Given the description of an element on the screen output the (x, y) to click on. 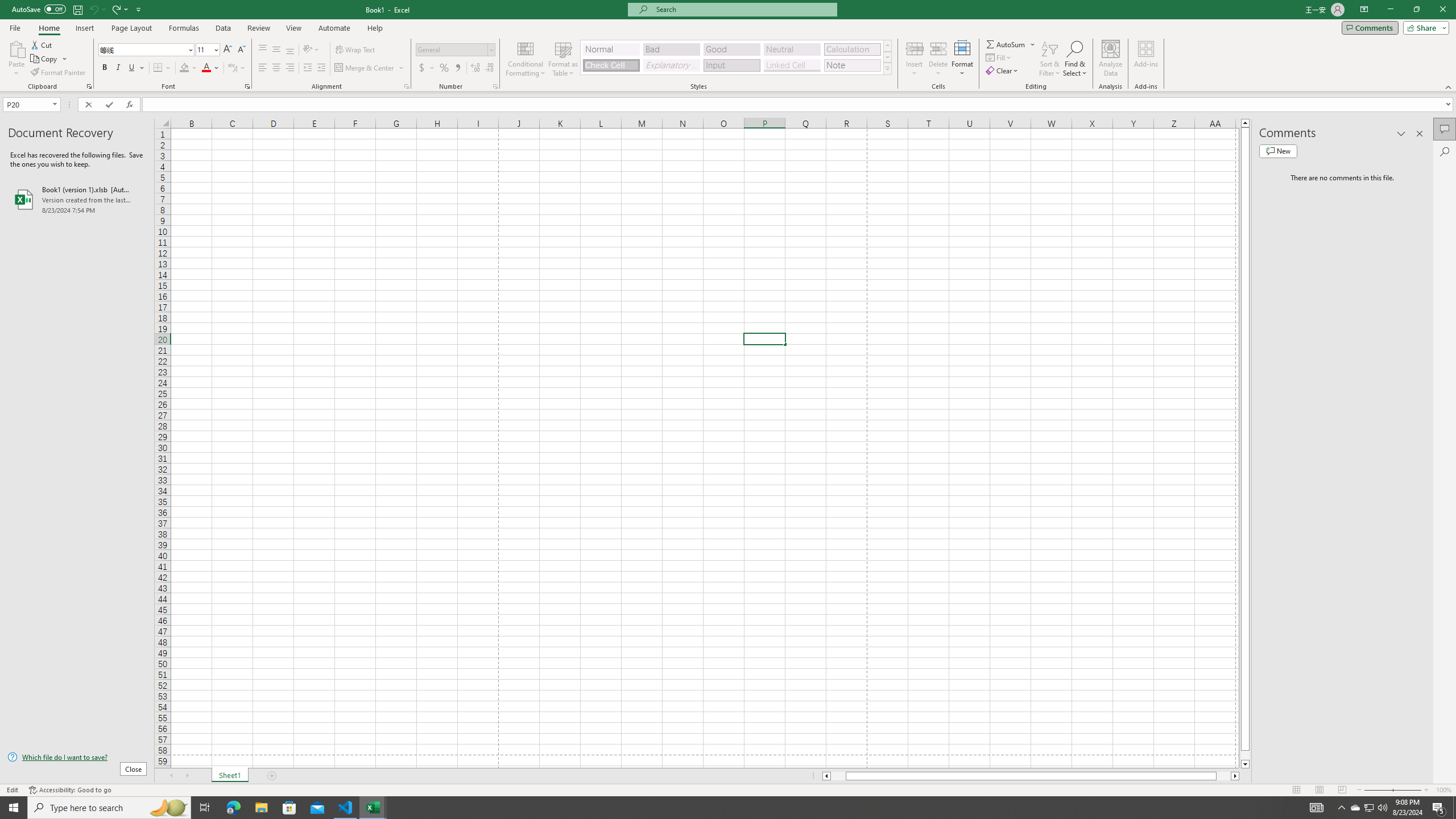
Comma Style (457, 67)
Font Size (207, 49)
Merge & Center (369, 67)
Cut (42, 44)
Paste (16, 48)
Bad (671, 49)
Calculation (852, 49)
Good (731, 49)
Explanatory Text (671, 65)
